Given the description of an element on the screen output the (x, y) to click on. 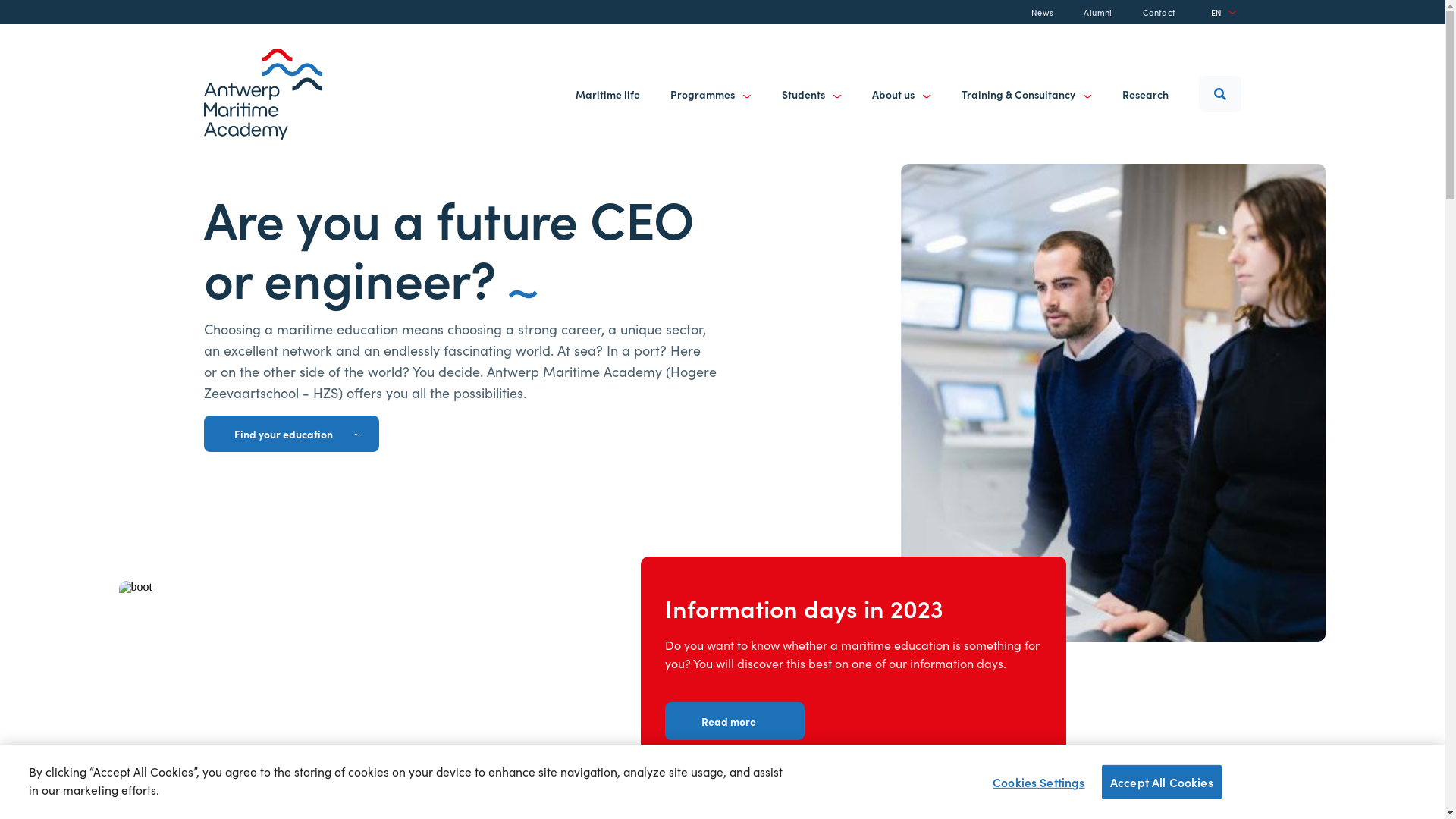
Home Element type: hover (262, 93)
Training & Consultancy Element type: text (1026, 93)
EN Element type: text (1223, 11)
Accept All Cookies Element type: text (1161, 781)
Students Element type: text (810, 93)
Maritime life Element type: text (606, 93)
Read more Element type: text (734, 721)
Programmes Element type: text (710, 93)
Find your education Element type: text (290, 433)
Contact Element type: text (1159, 12)
Alumni Element type: text (1097, 12)
About us Element type: text (901, 93)
Research Element type: text (1145, 93)
News Element type: text (1042, 12)
Cookies Settings Element type: text (1038, 781)
